Given the description of an element on the screen output the (x, y) to click on. 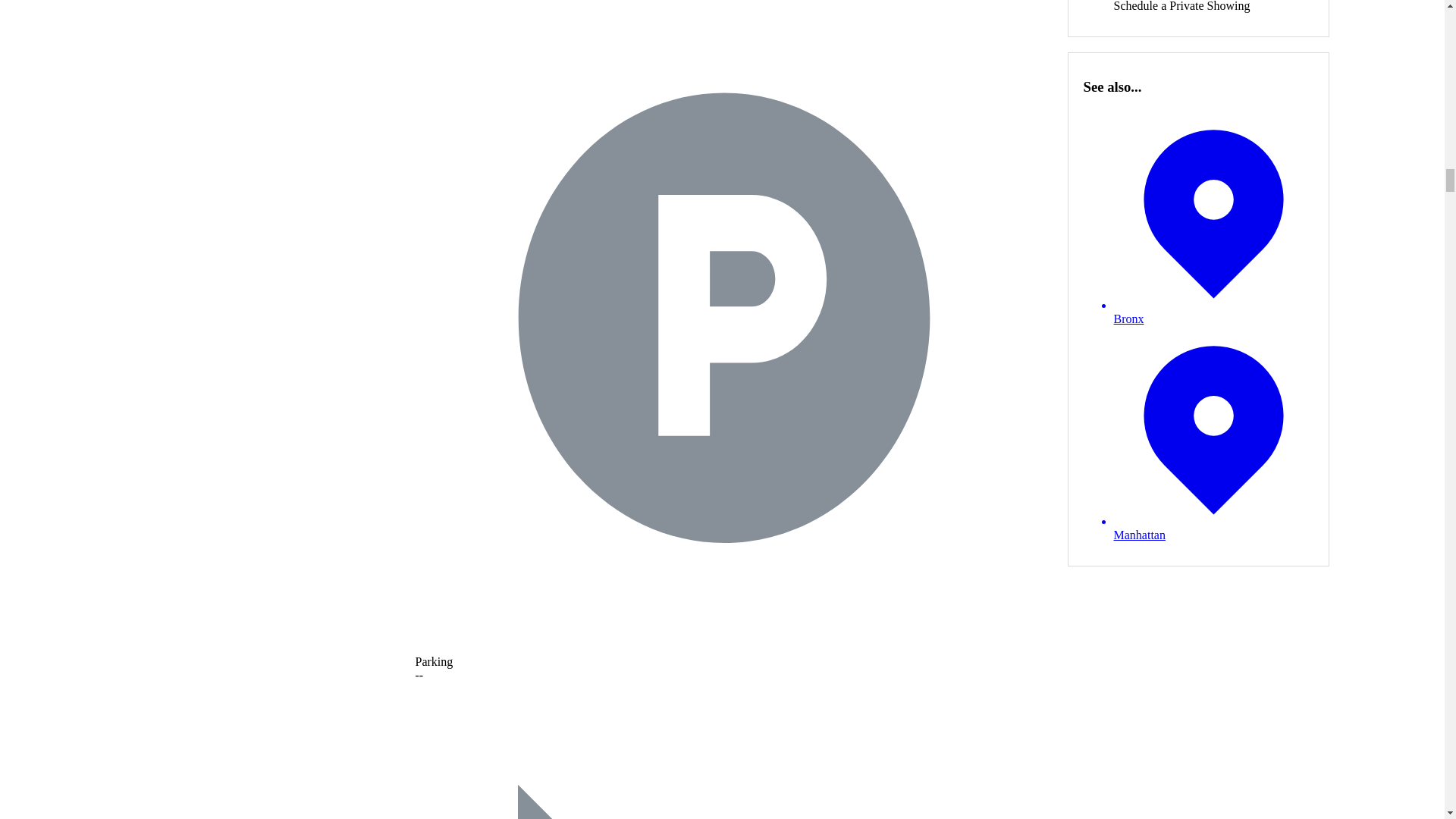
Bronx (1213, 217)
Manhattan (1213, 433)
